Given the description of an element on the screen output the (x, y) to click on. 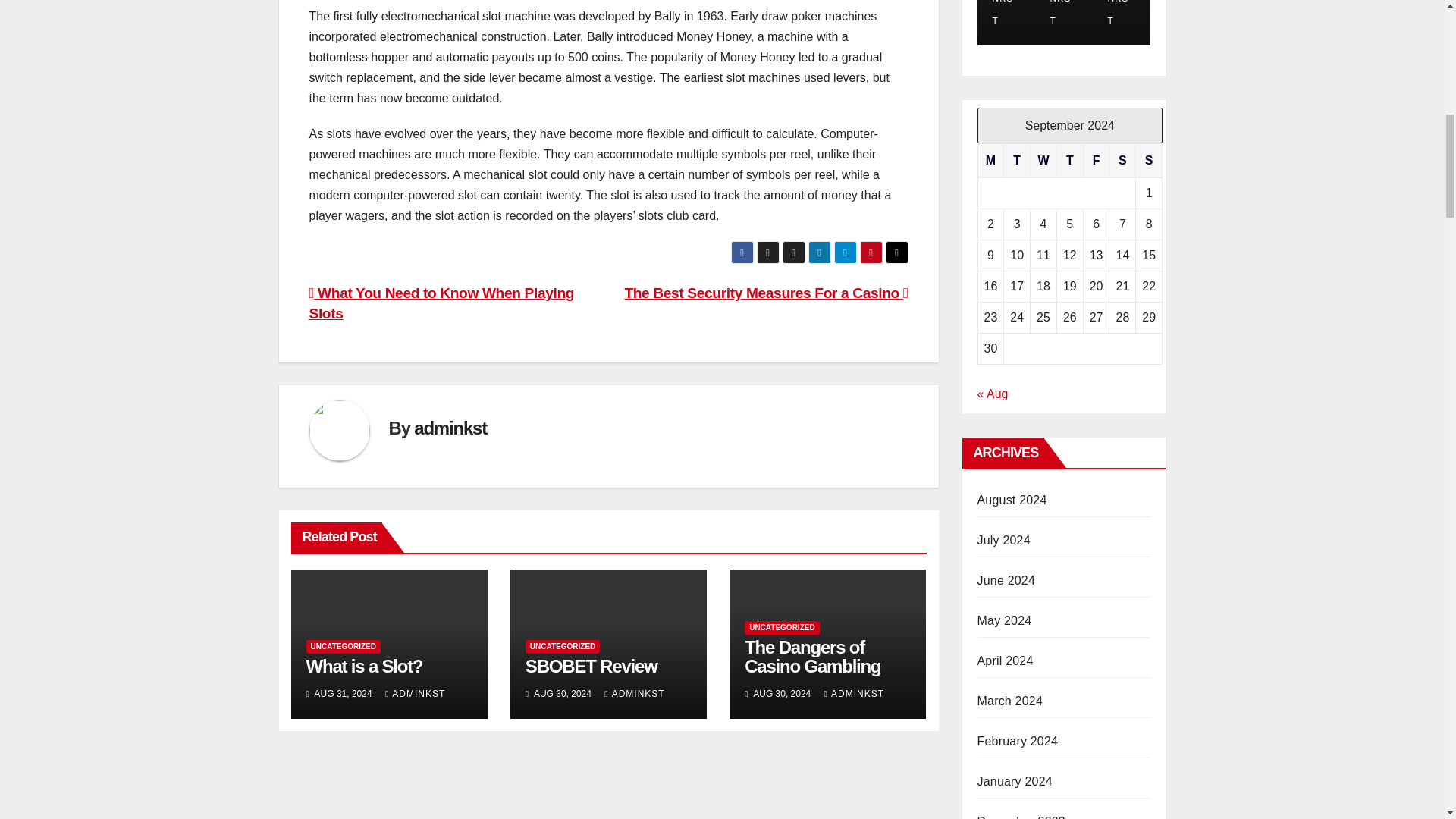
The Best Security Measures For a Casino (765, 293)
UNCATEGORIZED (342, 646)
What You Need to Know When Playing Slots (441, 303)
Permalink to: The Dangers of Casino Gambling (812, 656)
ADMINKST (853, 693)
UNCATEGORIZED (781, 627)
The Dangers of Casino Gambling (812, 656)
UNCATEGORIZED (562, 646)
SBOBET Review (591, 666)
adminkst (449, 427)
